Given the description of an element on the screen output the (x, y) to click on. 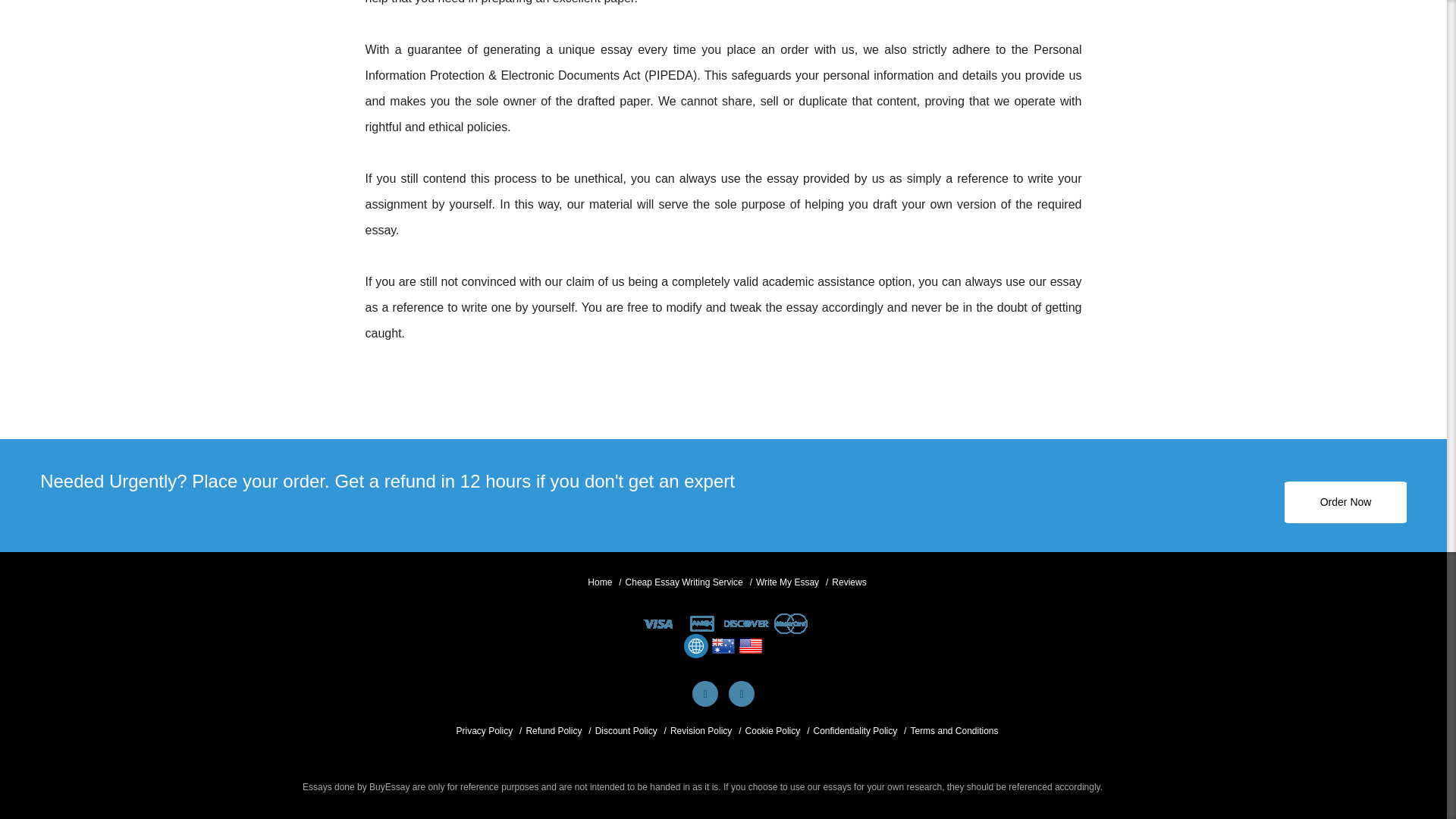
Home (599, 582)
Reviews (848, 582)
Write My Essay (786, 582)
Cookie Policy (772, 731)
Confidentiality Policy (854, 731)
Cheap Essay Writing Service (684, 582)
Refund Policy (552, 731)
Order Now (1345, 502)
Terms and Conditions (953, 731)
Revision Policy (700, 731)
